Given the description of an element on the screen output the (x, y) to click on. 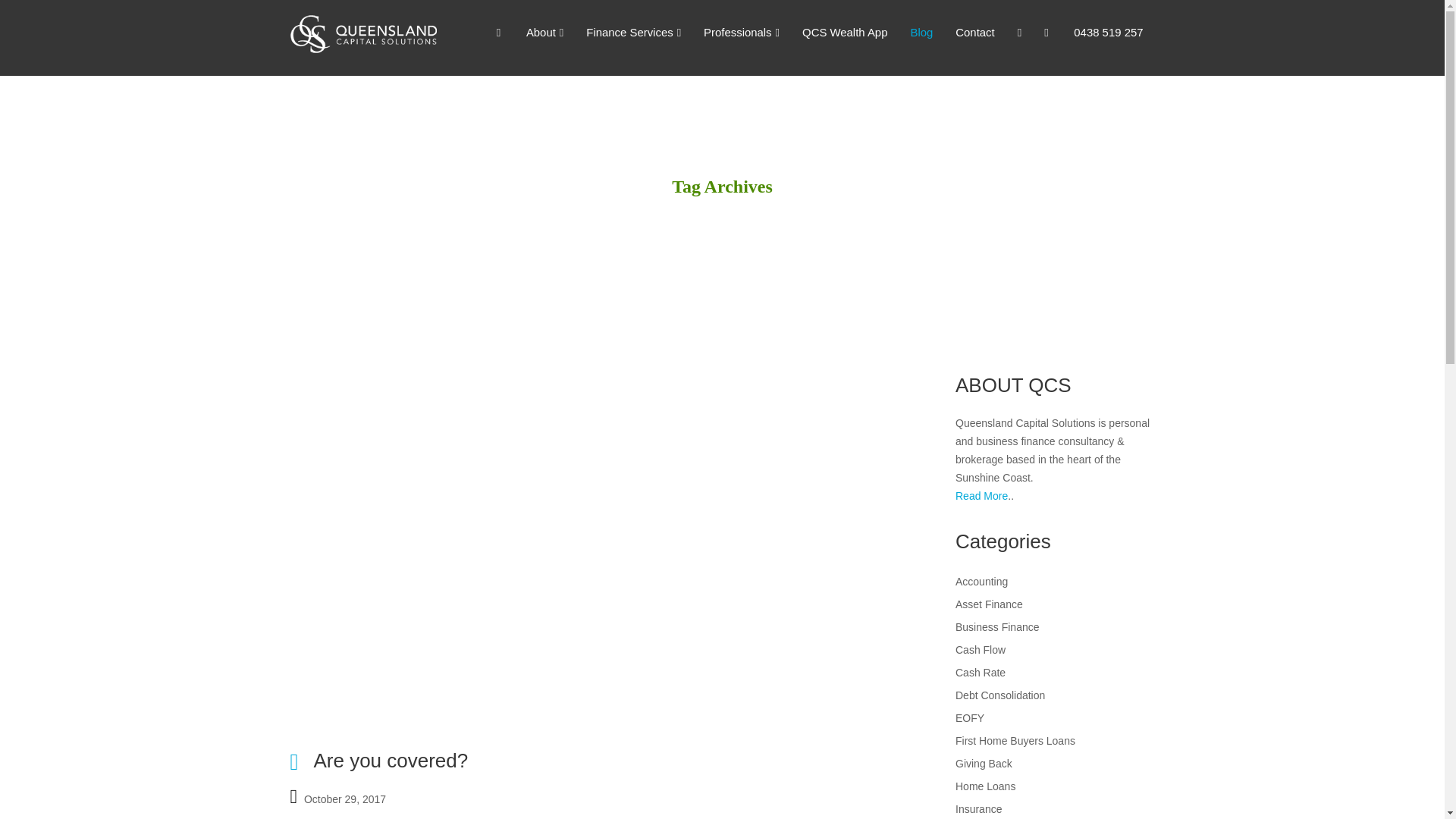
0438 519 257 (1108, 32)
Professionals (741, 32)
Accounting (981, 581)
Contact (974, 32)
8:59 pm (343, 797)
Are you covered? (390, 760)
October 29, 2017 (343, 797)
Read More (981, 495)
Finance Services (634, 32)
About (545, 32)
